Given the description of an element on the screen output the (x, y) to click on. 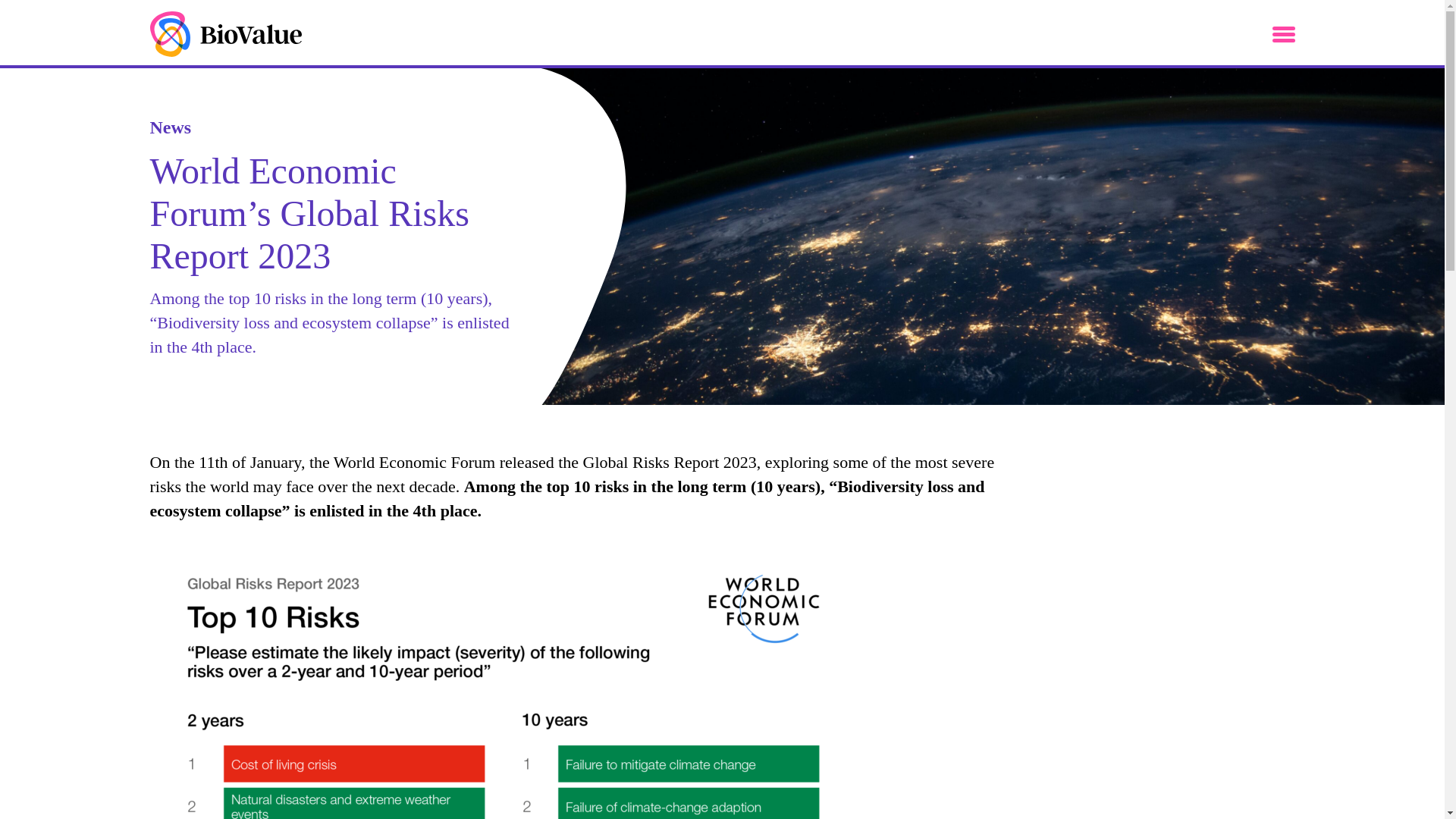
BioValue - HorizonEU (225, 33)
